Given the description of an element on the screen output the (x, y) to click on. 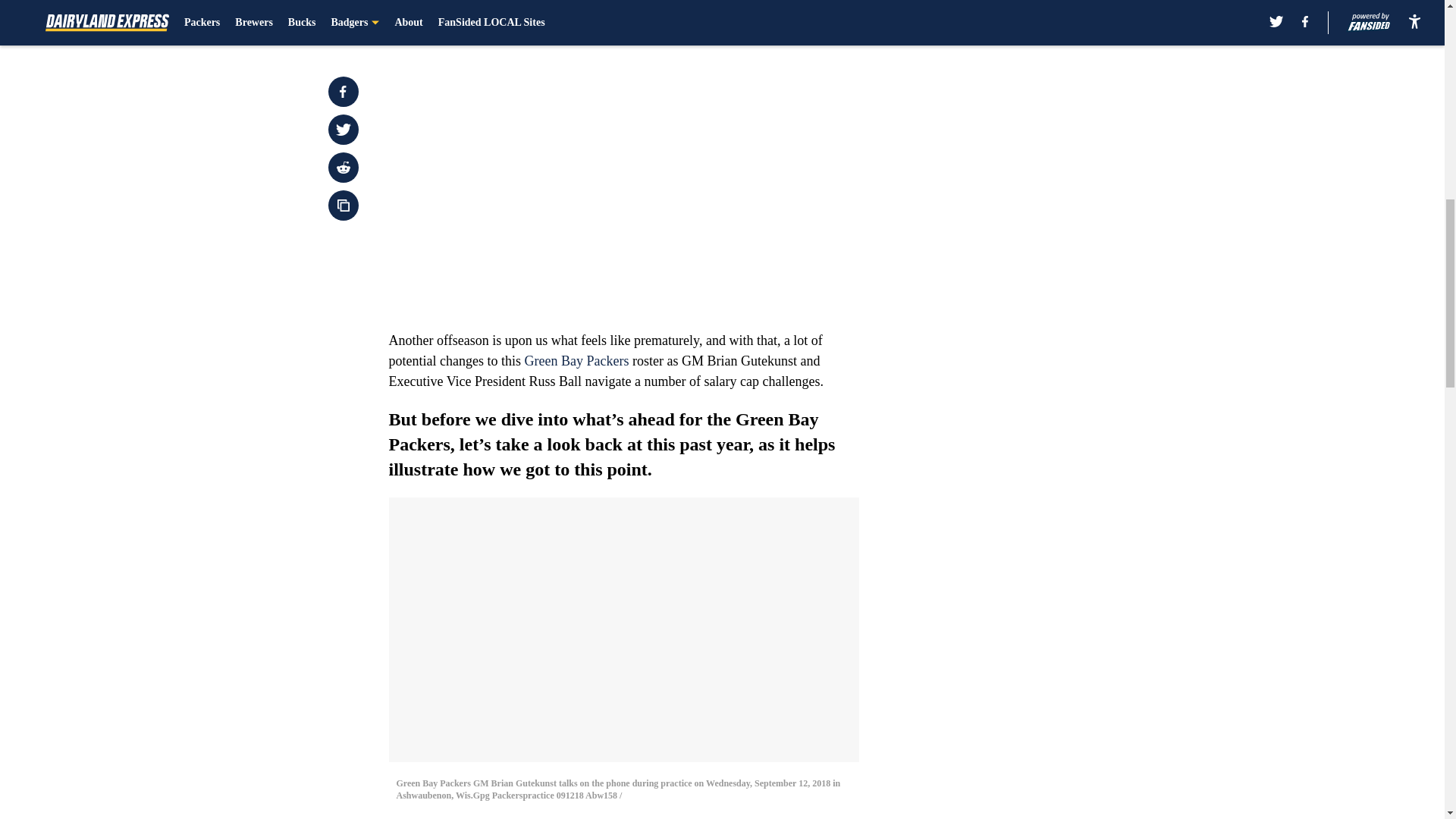
Next (813, 20)
Prev (433, 20)
Green Bay Packers (576, 360)
